Given the description of an element on the screen output the (x, y) to click on. 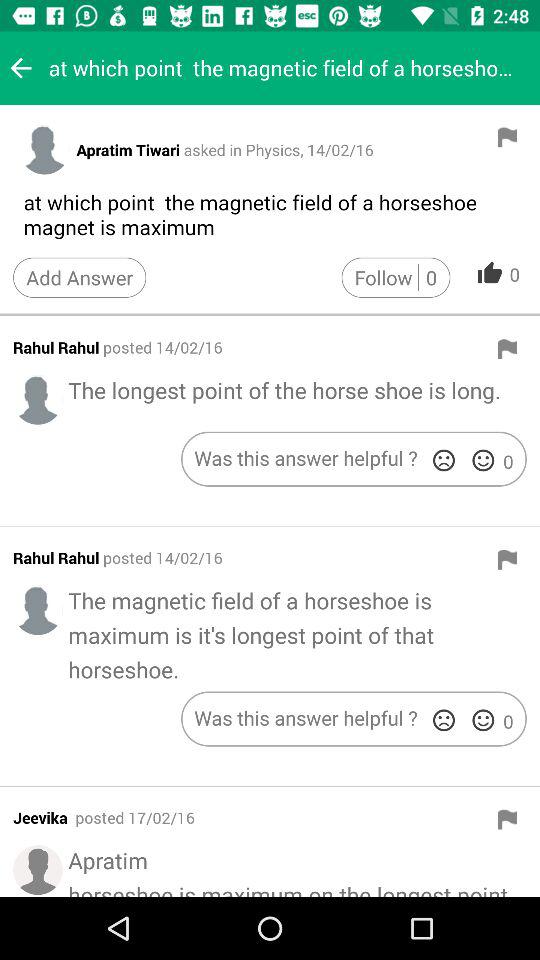
downvote answer (443, 460)
